Given the description of an element on the screen output the (x, y) to click on. 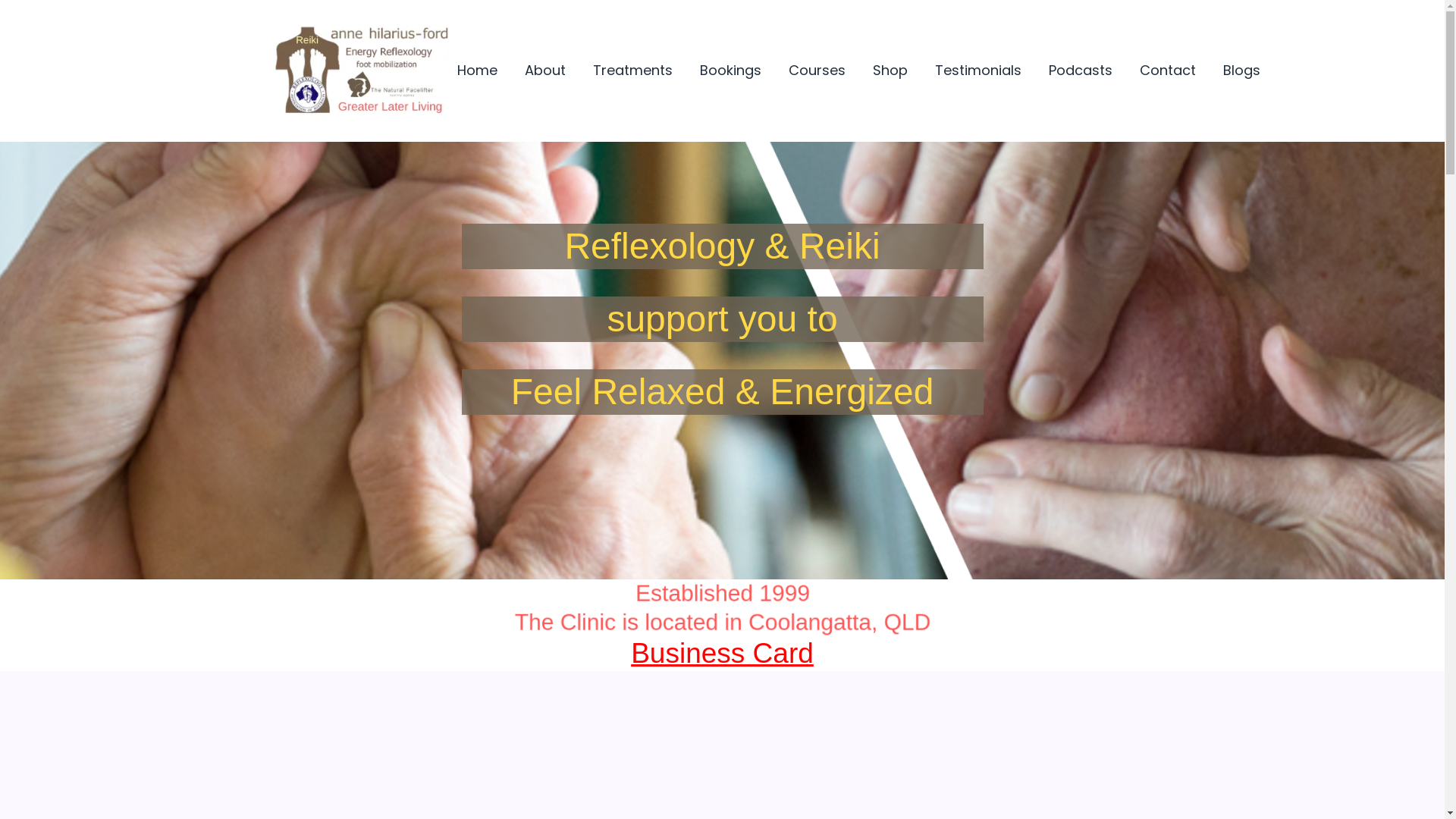
Contact Element type: text (1167, 70)
Business Card Element type: text (721, 652)
Bookings Element type: text (729, 70)
Testimonials Element type: text (977, 70)
Courses Element type: text (816, 70)
Home Element type: text (476, 70)
Podcasts Element type: text (1079, 70)
About Element type: text (544, 70)
Treatments Element type: text (632, 70)
Blogs Element type: text (1240, 70)
Shop Element type: text (889, 70)
